Given the description of an element on the screen output the (x, y) to click on. 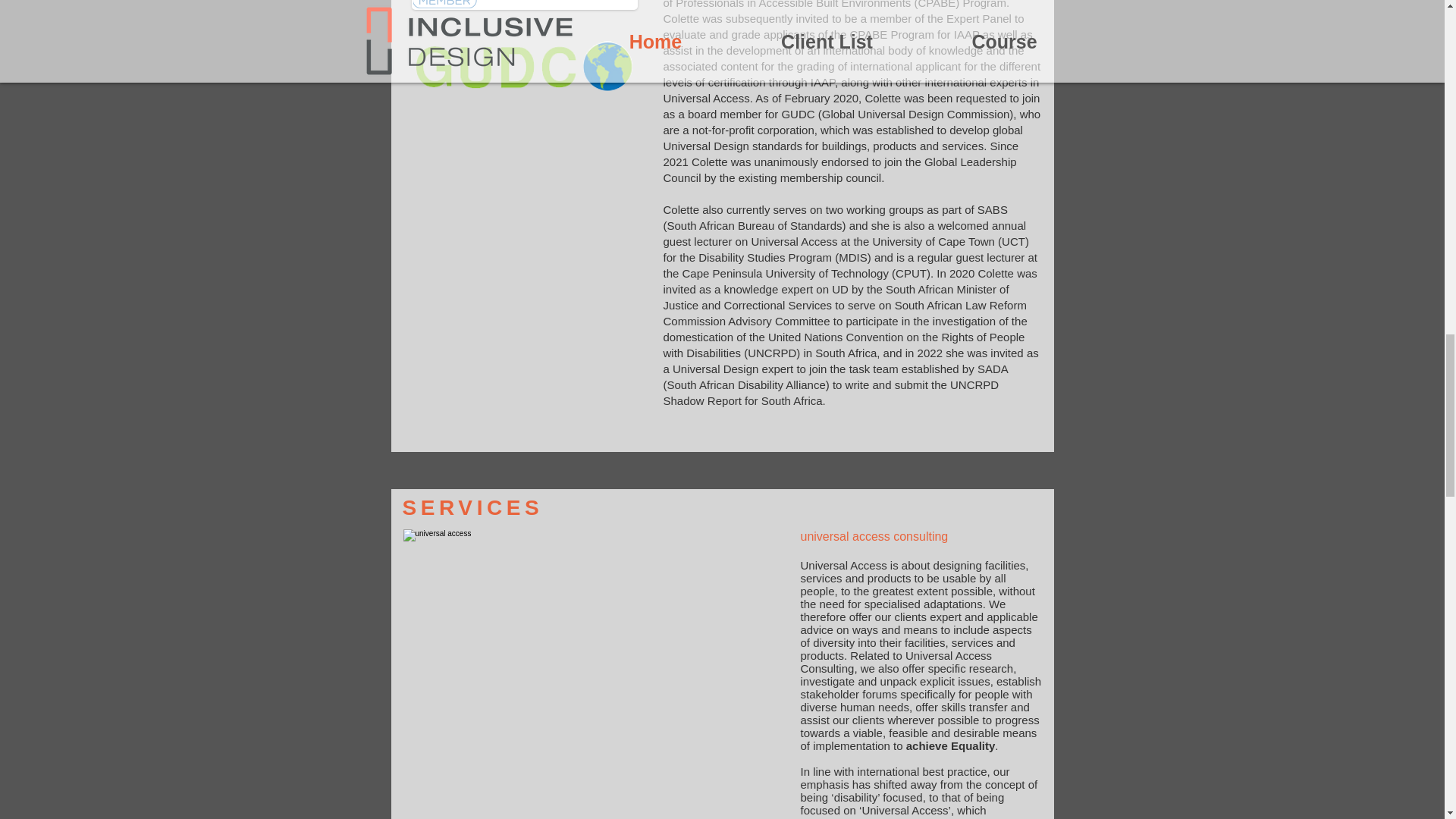
universal access consulting (874, 535)
